Given the description of an element on the screen output the (x, y) to click on. 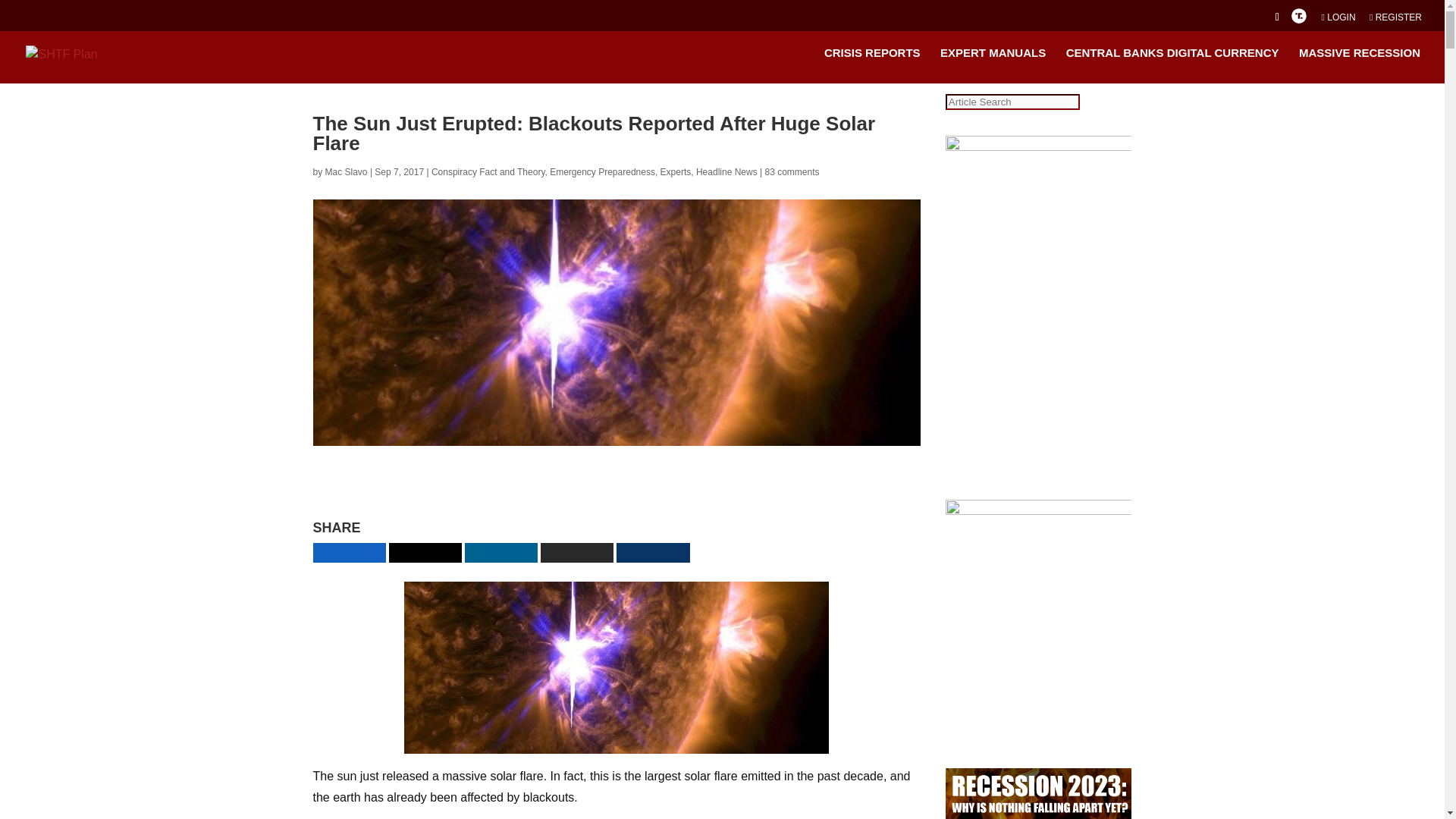
83 comments (791, 172)
REGISTER (1396, 20)
MASSIVE RECESSION (1359, 65)
EXPERT MANUALS (992, 65)
Posts by Mac Slavo (346, 172)
Download Now! (766, 492)
Headline News (726, 172)
Conspiracy Fact and Theory (487, 172)
CENTRAL BANKS DIGITAL CURRENCY (1172, 65)
